Given the description of an element on the screen output the (x, y) to click on. 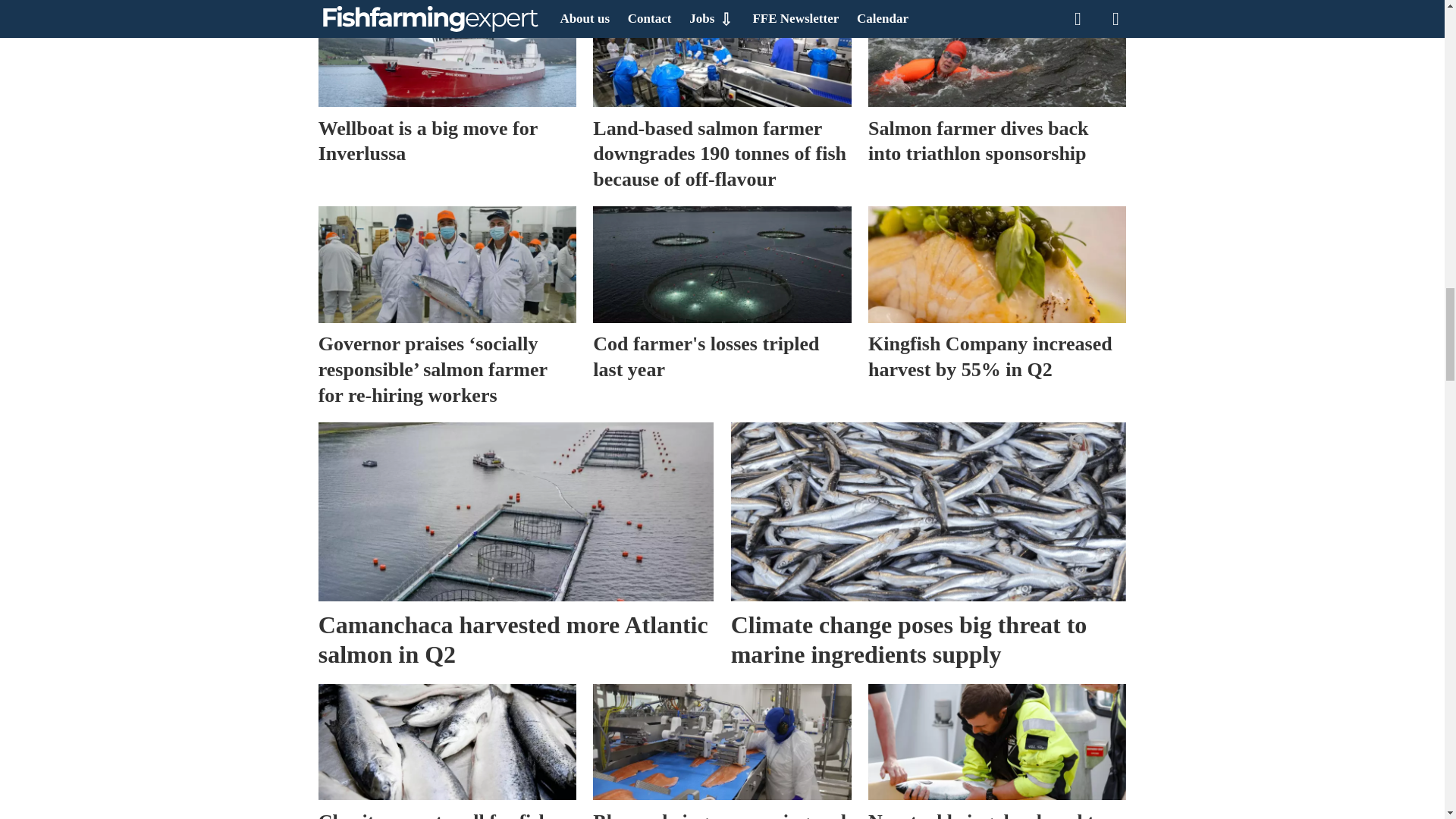
Wellboat is a big move for Inverlussa (447, 53)
Wellboat is a big move for Inverlussa (447, 85)
Charity repeats call for fish slaughter legislation (447, 741)
Climate change poses big threat to marine ingredients supply (928, 511)
Salmon farmer dives back into triathlon sponsorship (996, 53)
Camanchaca harvested more Atlantic salmon in Q2 (516, 511)
Blumar brings processing and jobs back to Magallanes (721, 741)
Cod farmer's losses tripled last year (721, 264)
